Given the description of an element on the screen output the (x, y) to click on. 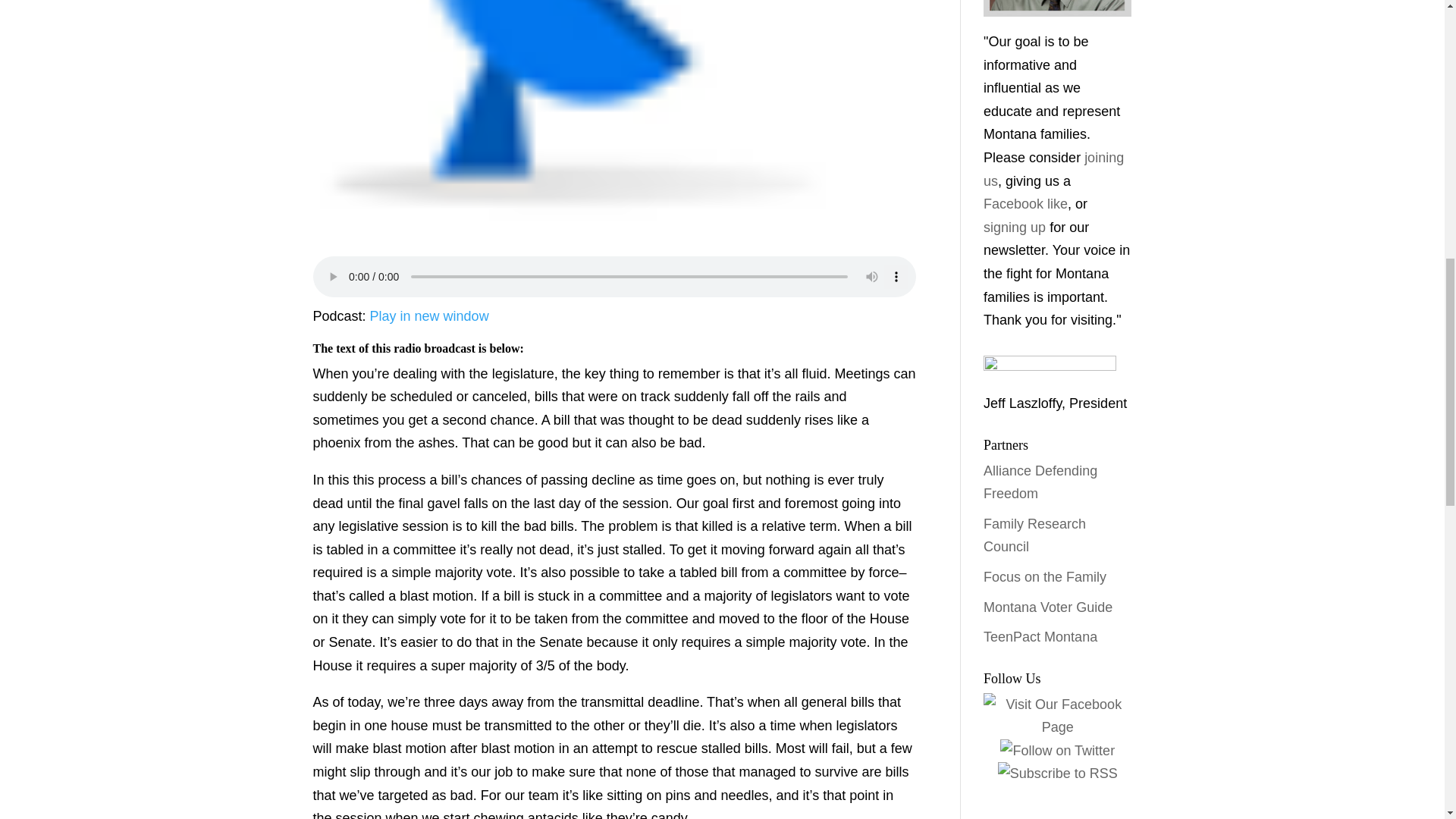
Play in new window (429, 315)
signature (1050, 365)
